Given the description of an element on the screen output the (x, y) to click on. 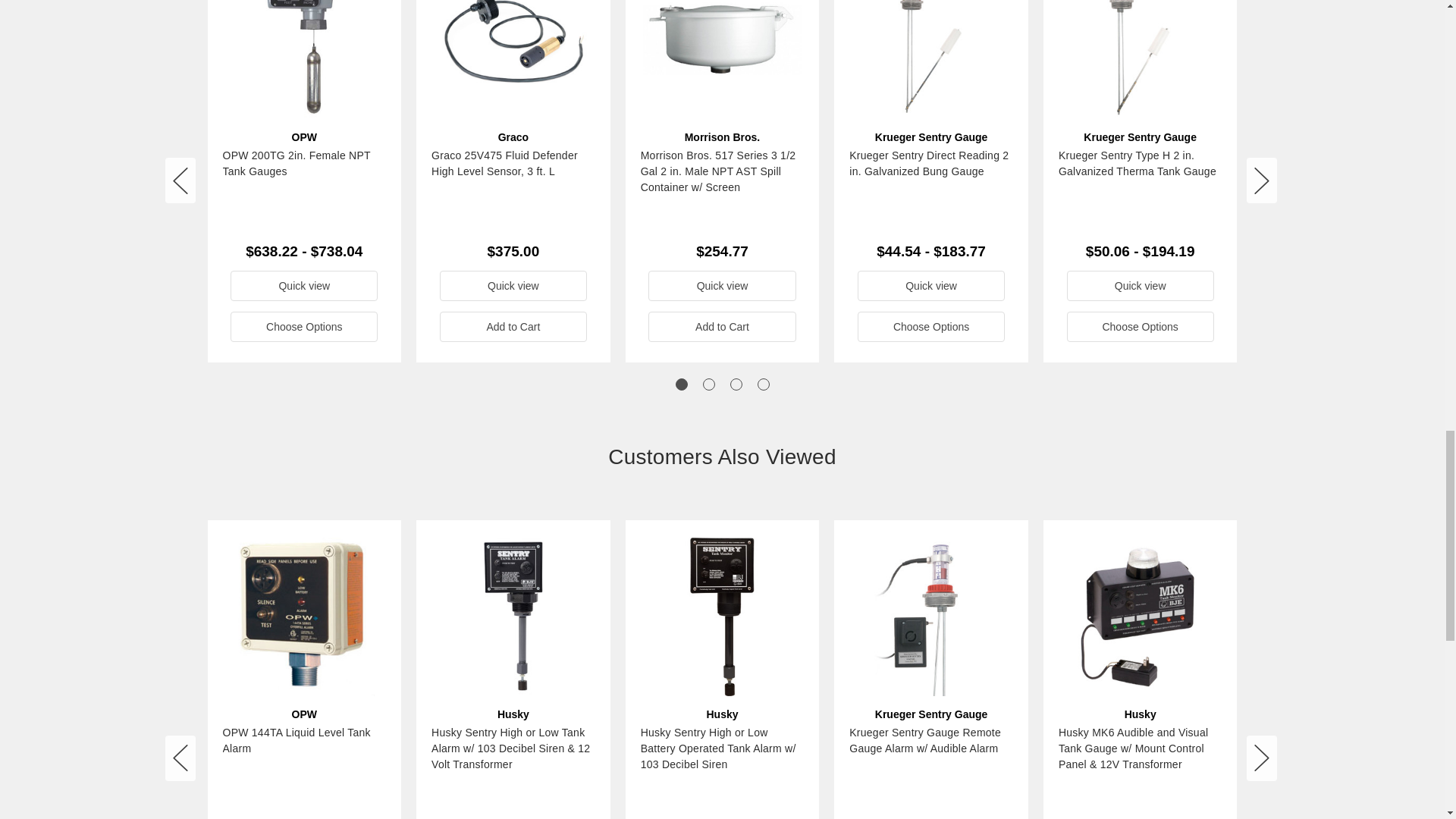
Graco 25V475 Fluid Defender High Level Sensor, 3 ft. L (512, 59)
OPW 200TG 2in. Female NPT Tank Gauges (304, 59)
